Given the description of an element on the screen output the (x, y) to click on. 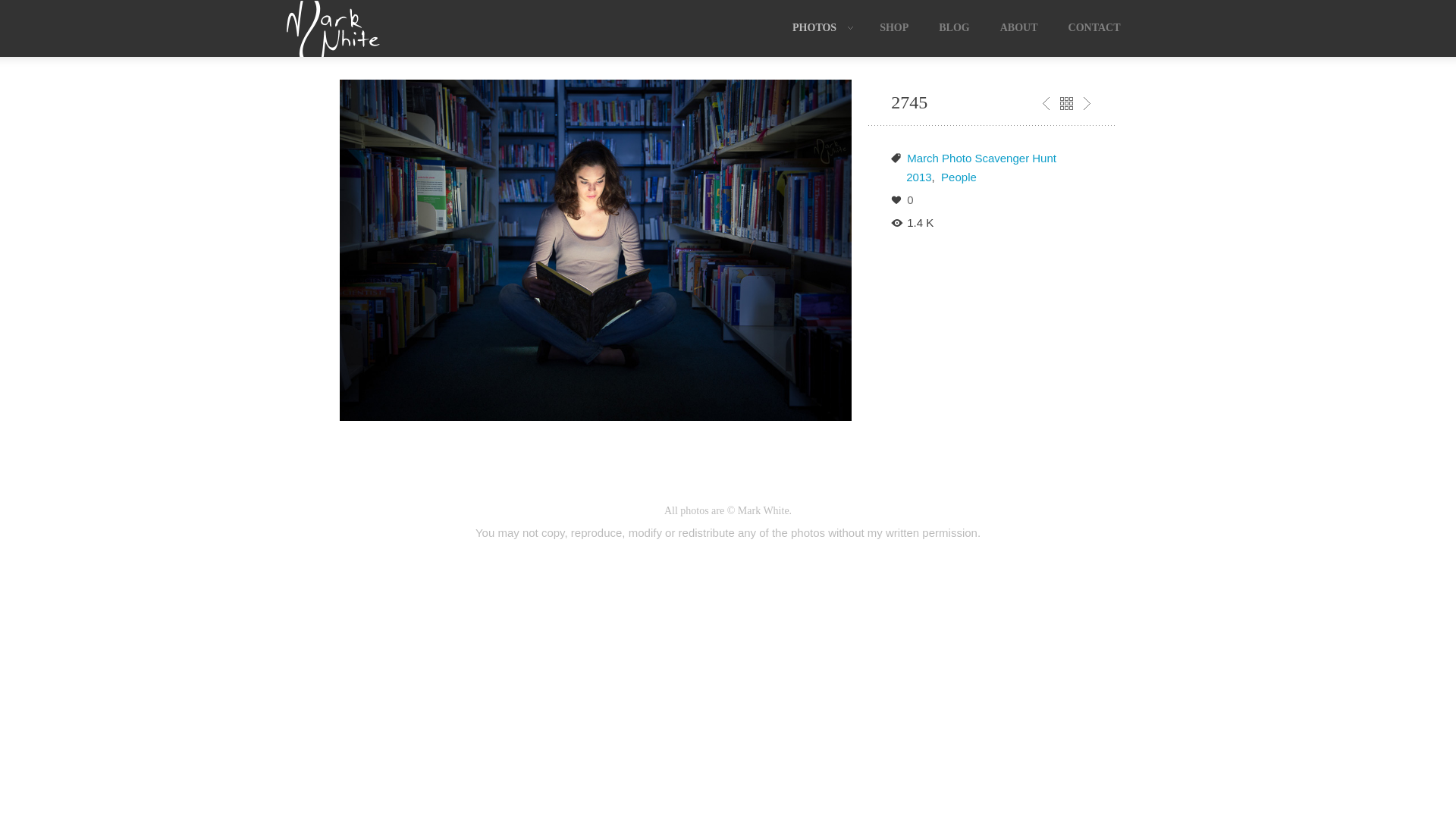
0 Element type: text (909, 199)
Close Element type: hover (1066, 103)
People Element type: text (958, 176)
CONTACT Element type: text (1094, 27)
4463 Element type: hover (1086, 103)
8488 Element type: hover (1045, 103)
PHOTOS
. Element type: text (820, 27)
March Photo Scavenger Hunt 2013 Element type: text (981, 167)
BLOG Element type: text (953, 27)
ABOUT Element type: text (1019, 27)
SHOP Element type: text (893, 27)
